Given the description of an element on the screen output the (x, y) to click on. 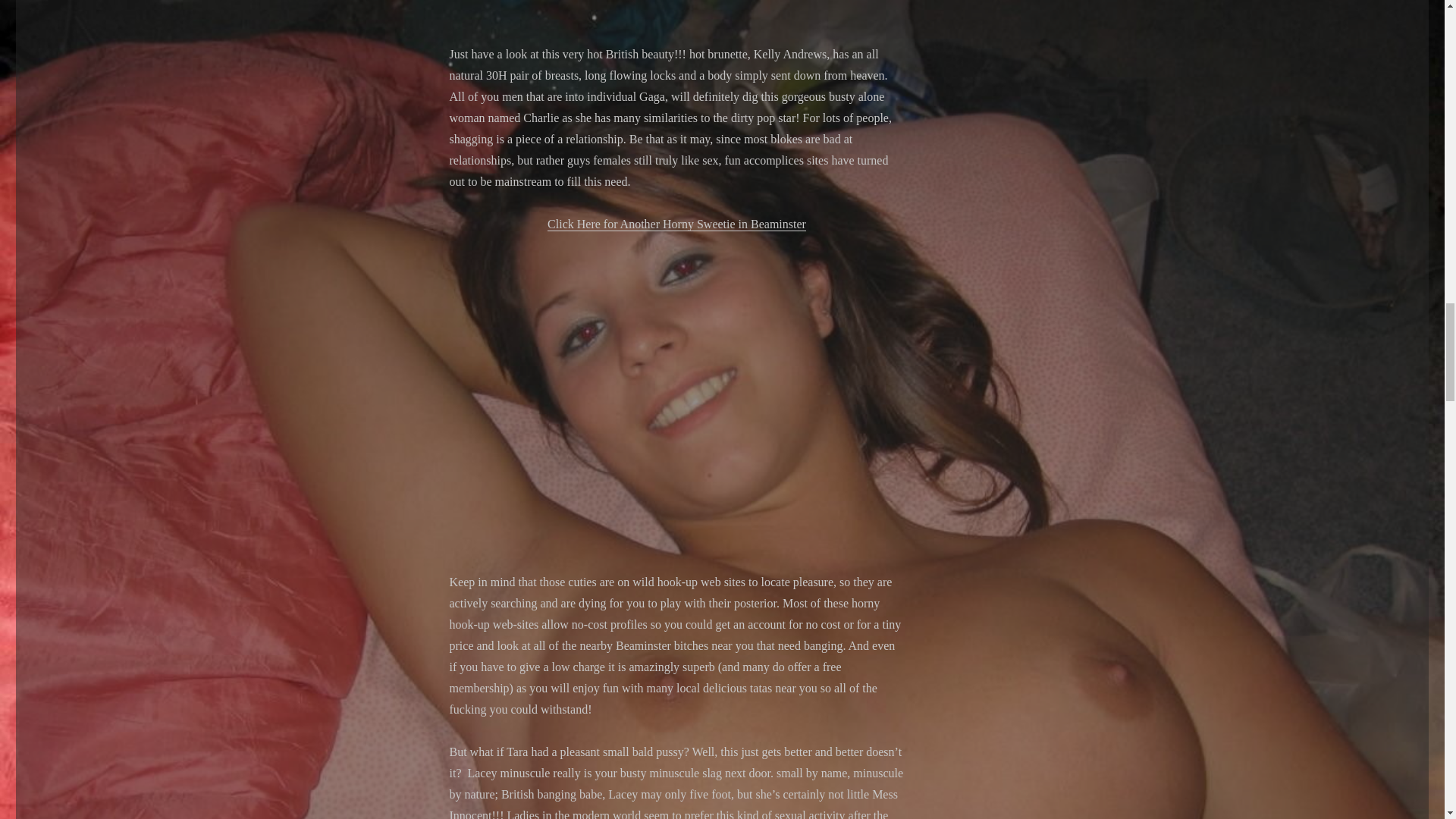
Click Here for Another Horny Sweetie in Beaminster (676, 223)
Kinky Fun (676, 382)
